Given the description of an element on the screen output the (x, y) to click on. 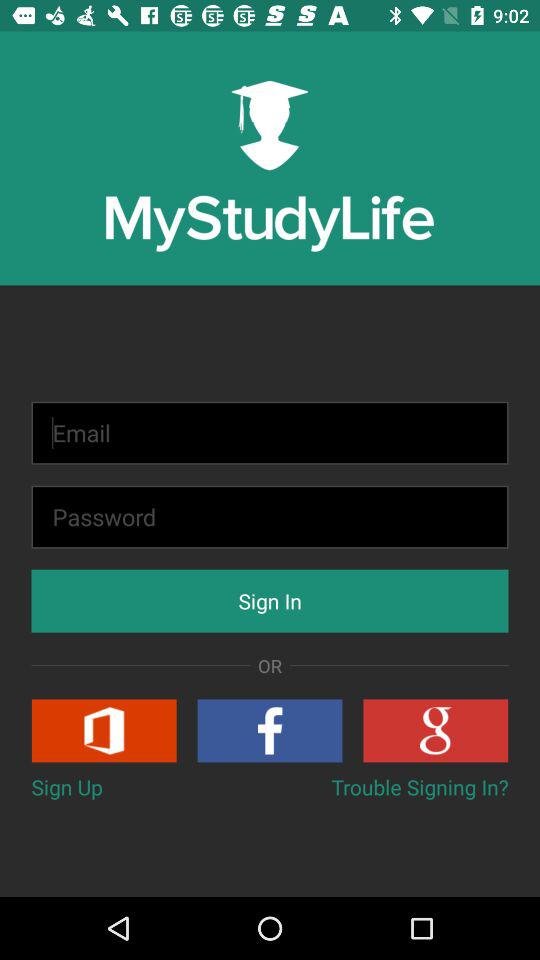
select trouble signing in? item (419, 786)
